Given the description of an element on the screen output the (x, y) to click on. 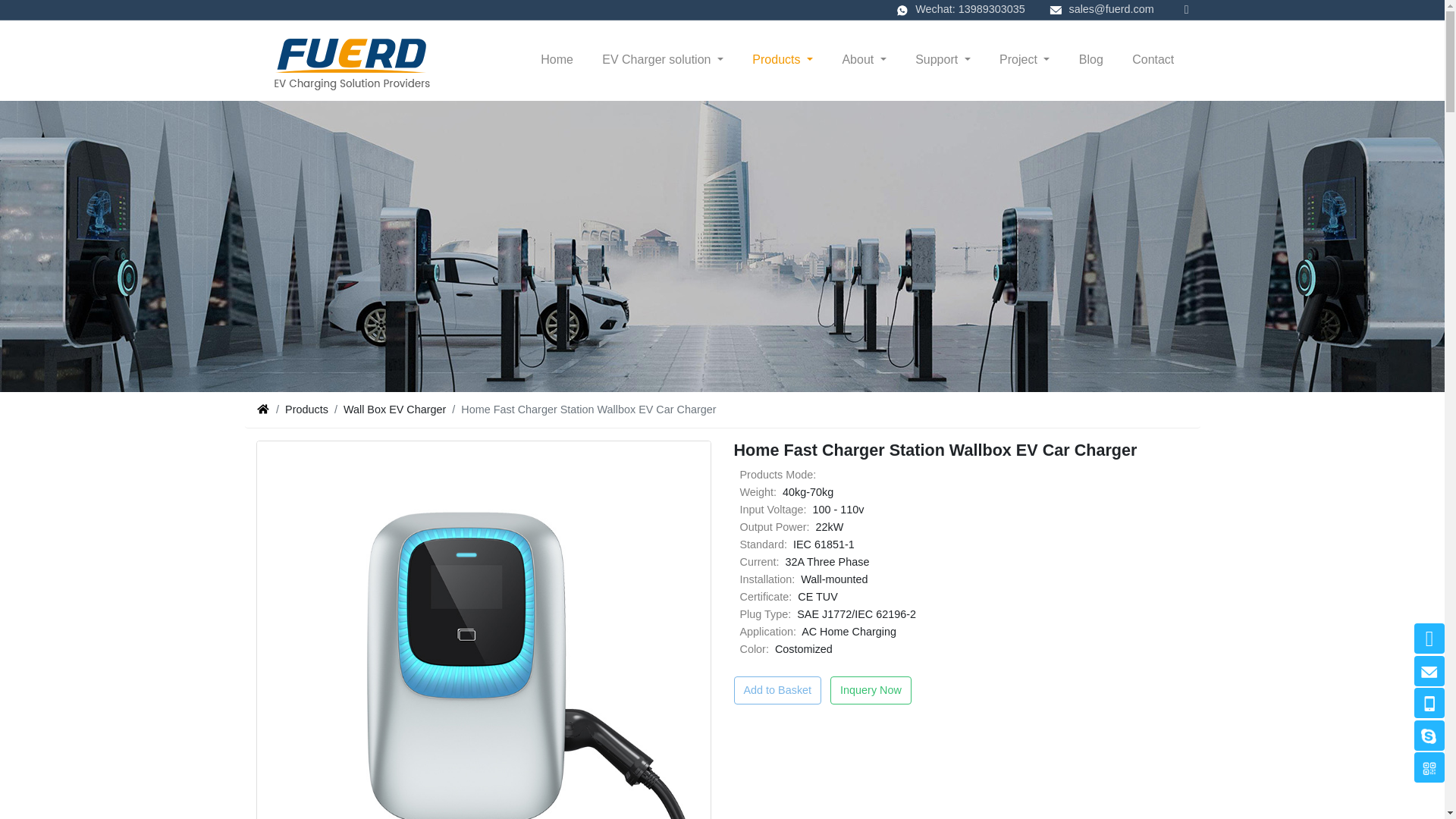
Project (1024, 60)
About (864, 60)
Support (943, 60)
Home (556, 60)
EV Charger solution (663, 60)
Products (782, 60)
